Given the description of an element on the screen output the (x, y) to click on. 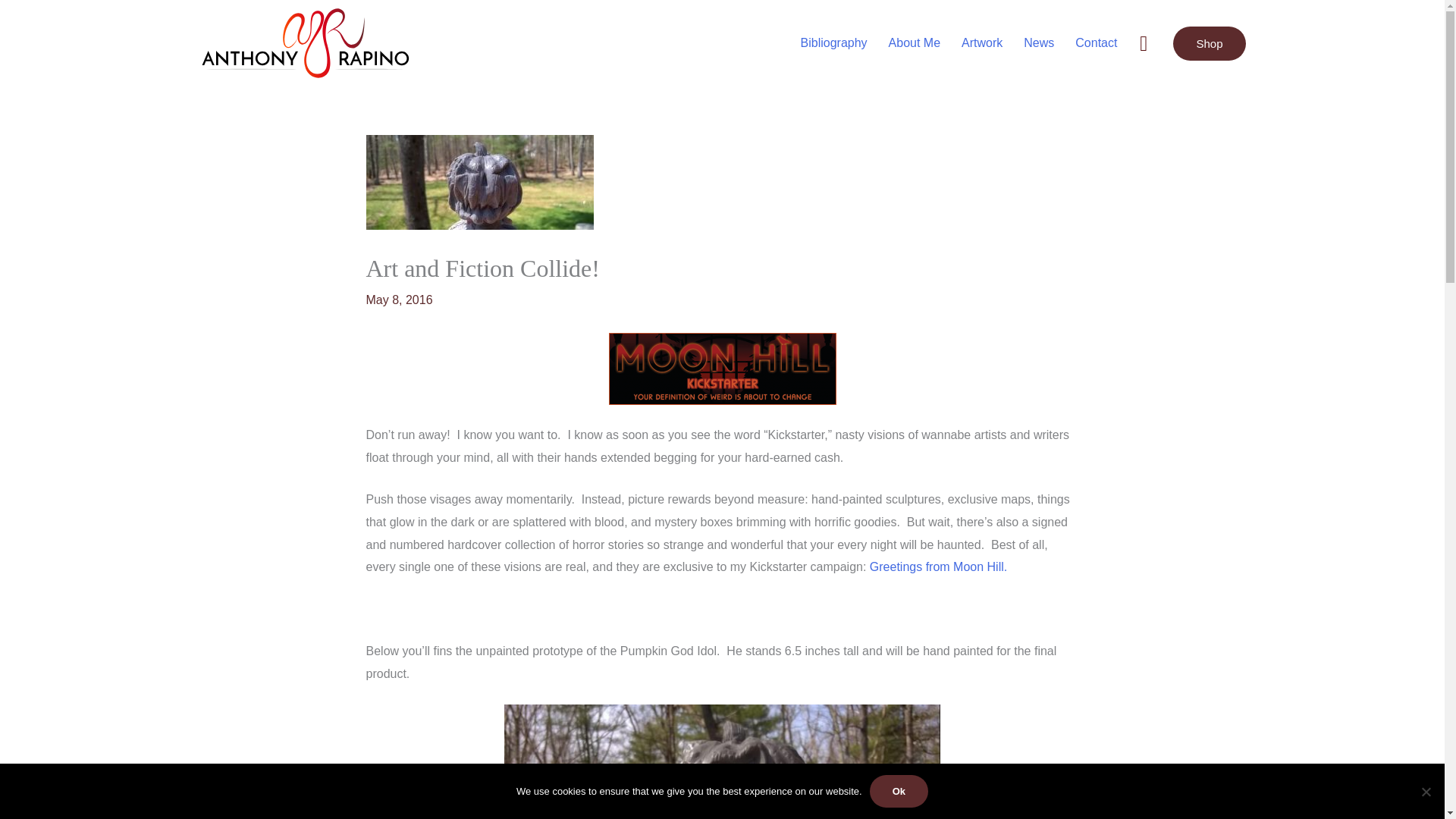
Greetings from Moon Hill. (938, 566)
About Me (913, 42)
No (1425, 791)
Shop (1208, 43)
Bibliography (833, 42)
Artwork (981, 42)
News (1038, 42)
Contact (1095, 42)
